Given the description of an element on the screen output the (x, y) to click on. 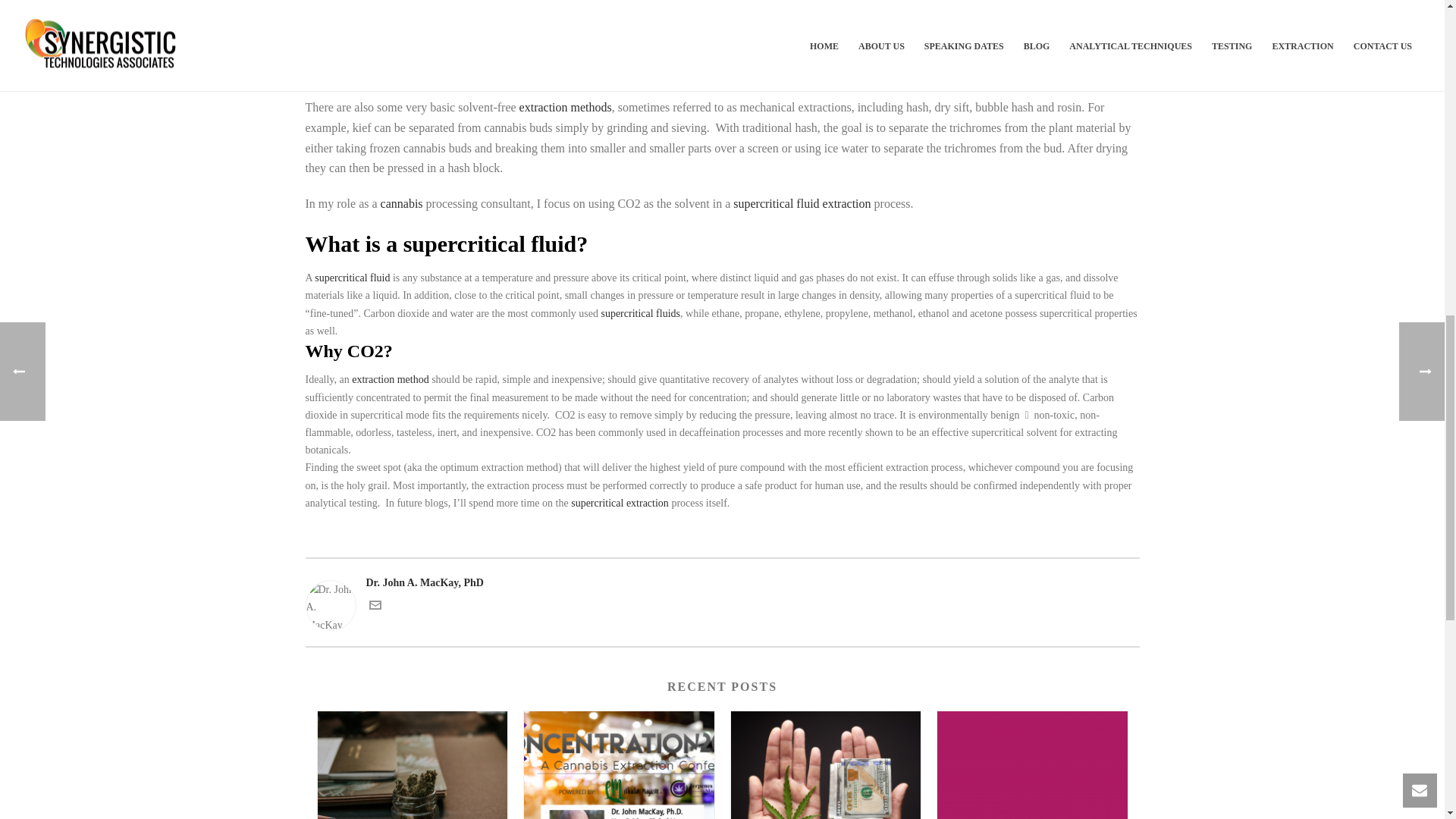
Get in touch with me via email (374, 607)
5 Critical Considerations When Planning a Cannabis Business (825, 765)
Alphabet Soup and the Modern Cannabis Lab (1031, 765)
